Given the description of an element on the screen output the (x, y) to click on. 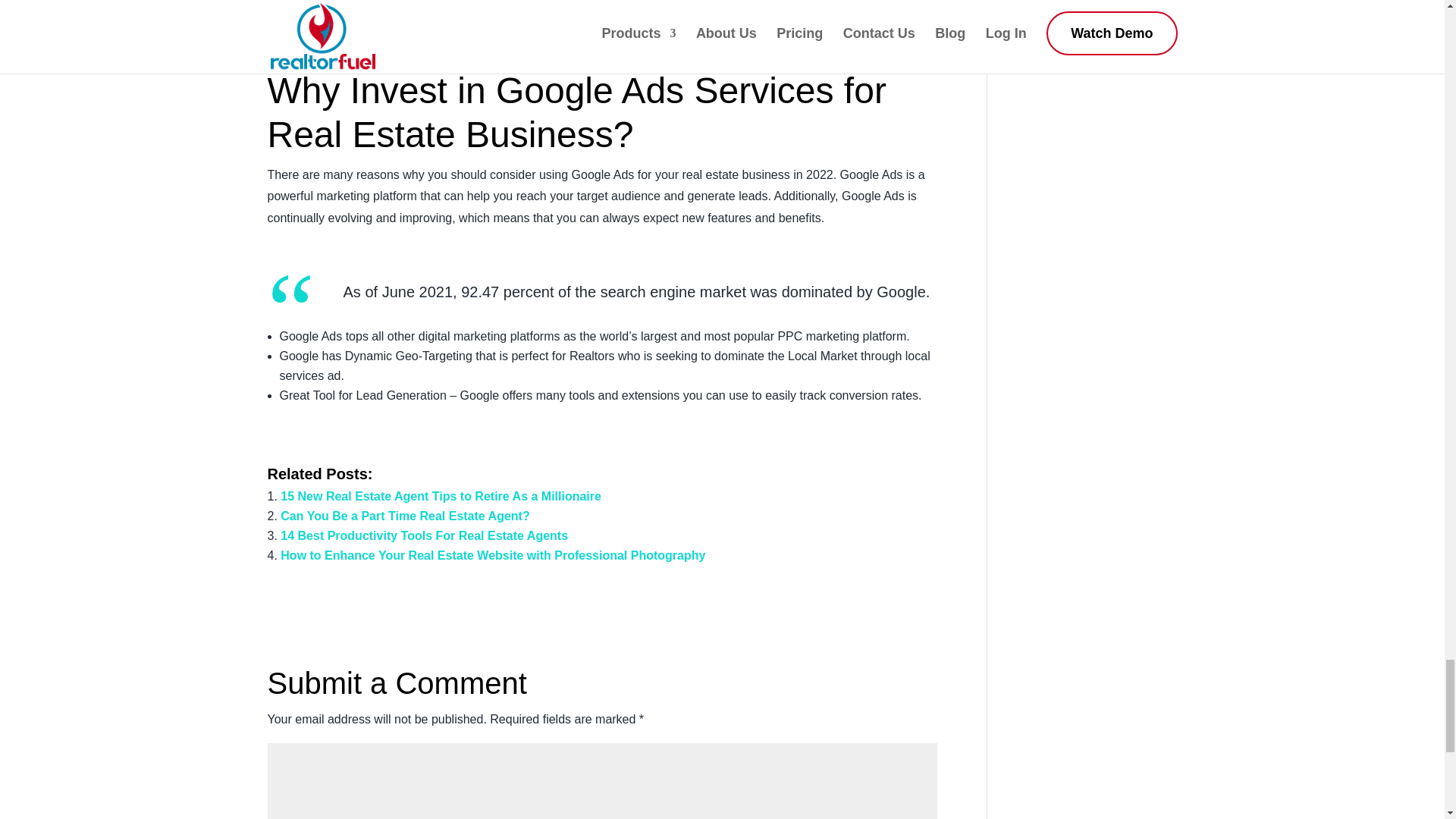
Can You Be a Part Time Real Estate Agent? (405, 515)
14 Best Productivity Tools For Real Estate Agents (424, 535)
15 New Real Estate Agent Tips to Retire As a Millionaire (441, 495)
14 Best Productivity Tools For Real Estate Agents (424, 535)
Can You Be a Part Time Real Estate Agent? (405, 515)
Google Ads Services (665, 90)
15 New Real Estate Agent Tips to Retire As a Millionaire (441, 495)
